Given the description of an element on the screen output the (x, y) to click on. 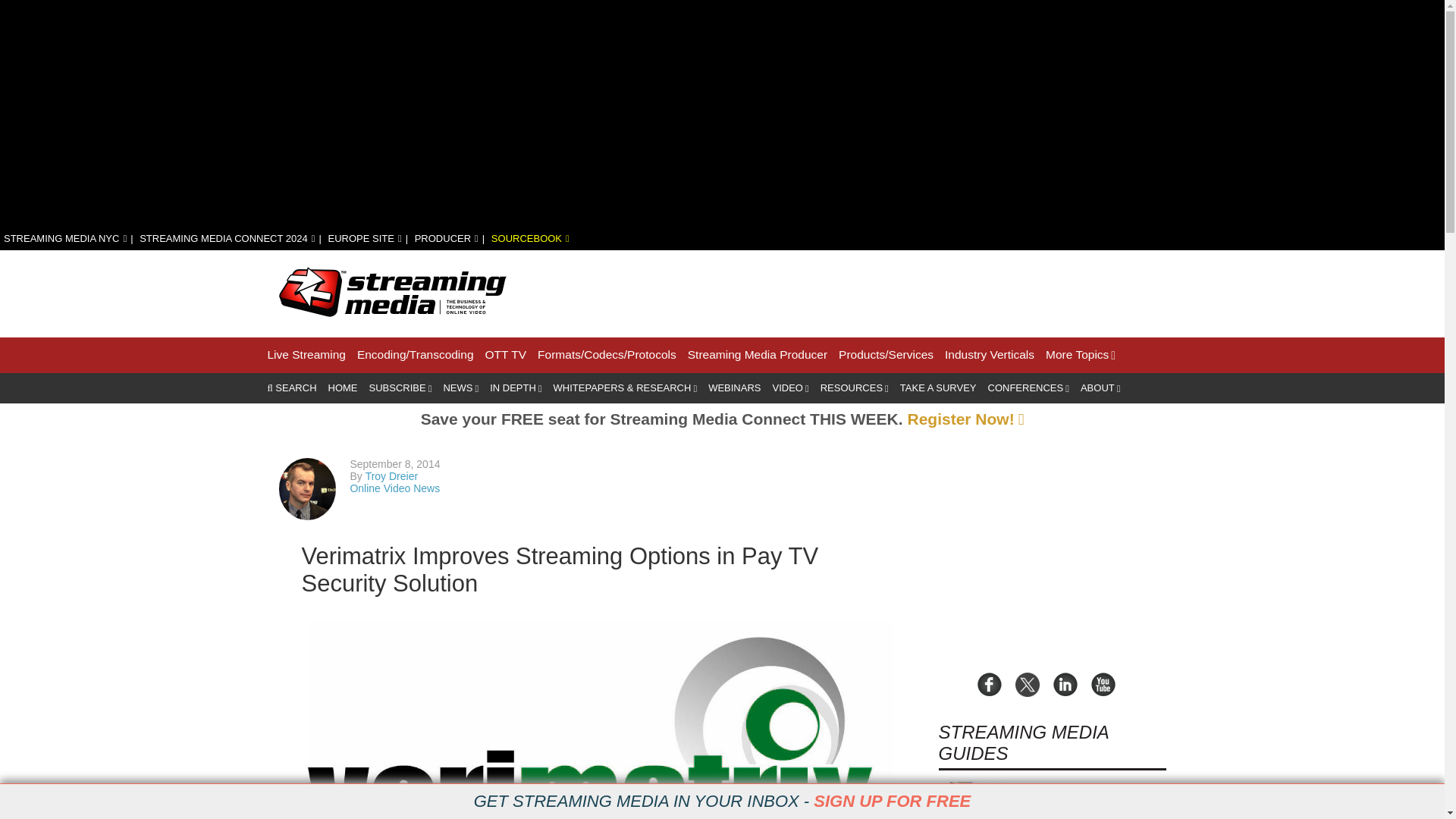
 SEARCH (290, 387)
Live Streaming (305, 355)
HOME (343, 387)
OTT TV (505, 355)
Industry Verticals (988, 355)
Streaming Media Producer (757, 355)
Streaming Media Producer (757, 355)
NEWS (460, 388)
3rd party ad content (890, 291)
